Given the description of an element on the screen output the (x, y) to click on. 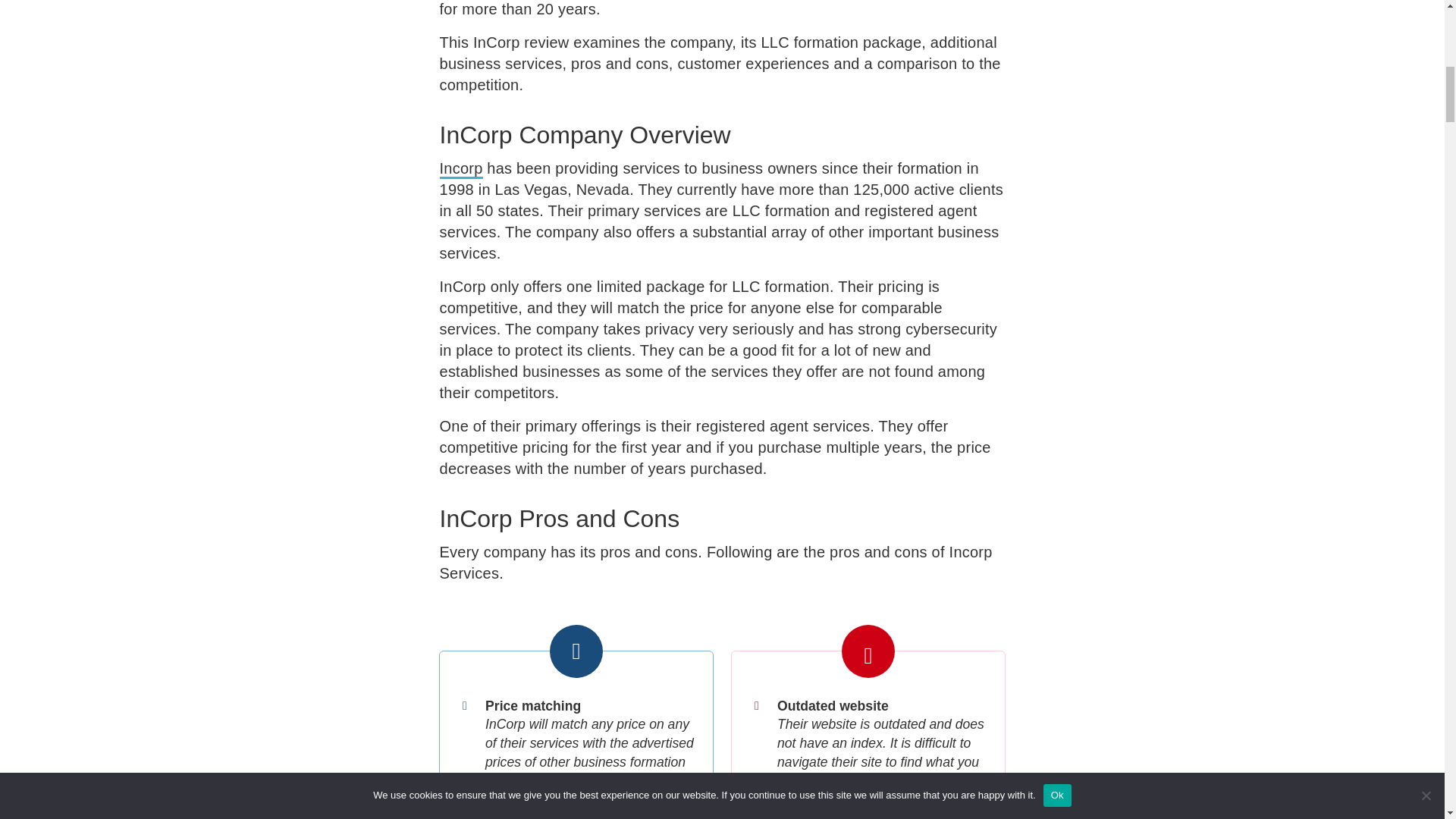
Incorp (461, 169)
